Given the description of an element on the screen output the (x, y) to click on. 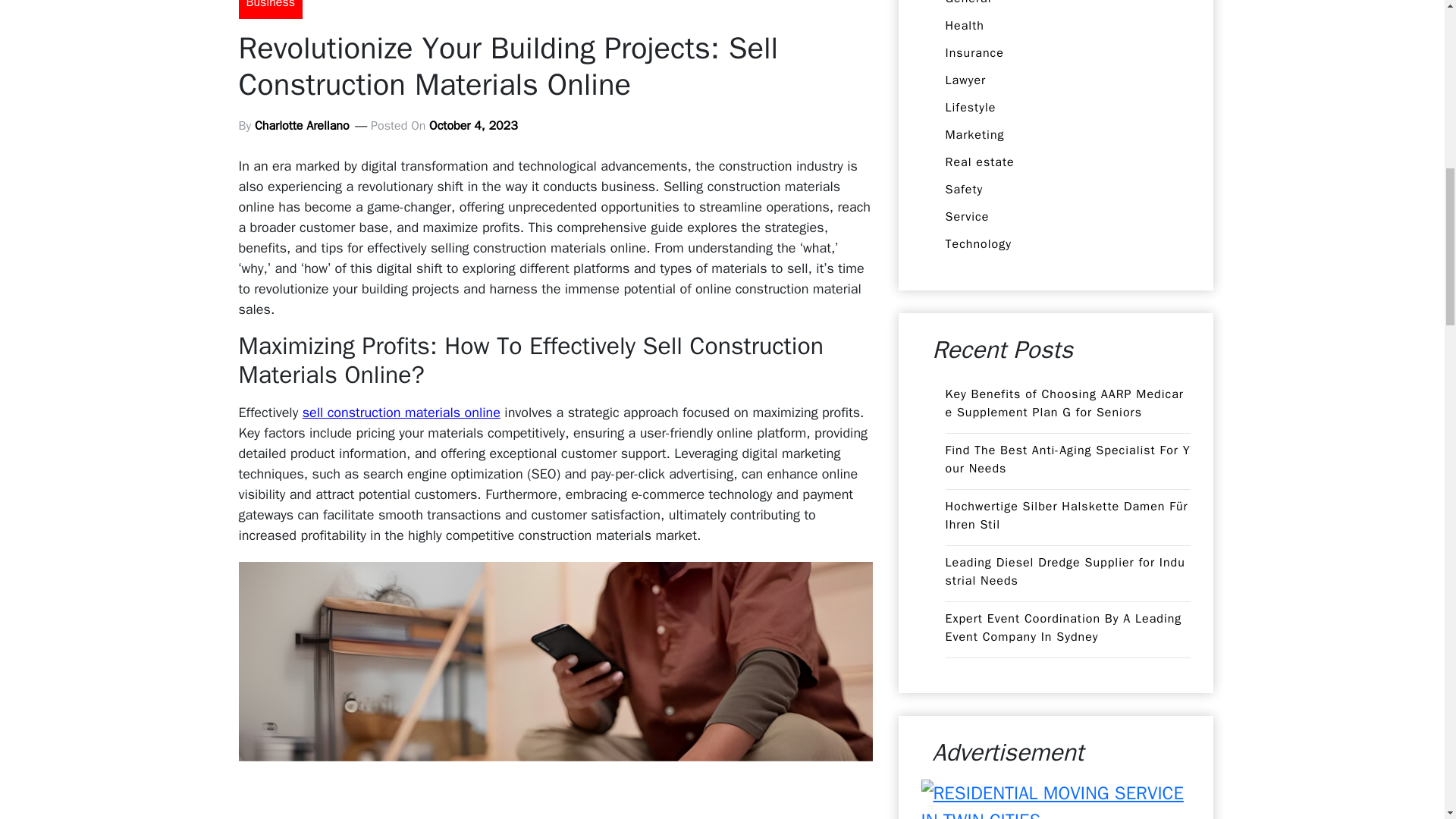
Charlotte Arellano (301, 126)
Health (964, 25)
General (967, 2)
sell construction materials online (401, 412)
Lawyer (964, 79)
Lifestyle (969, 107)
Business (270, 9)
Insurance (973, 52)
